Given the description of an element on the screen output the (x, y) to click on. 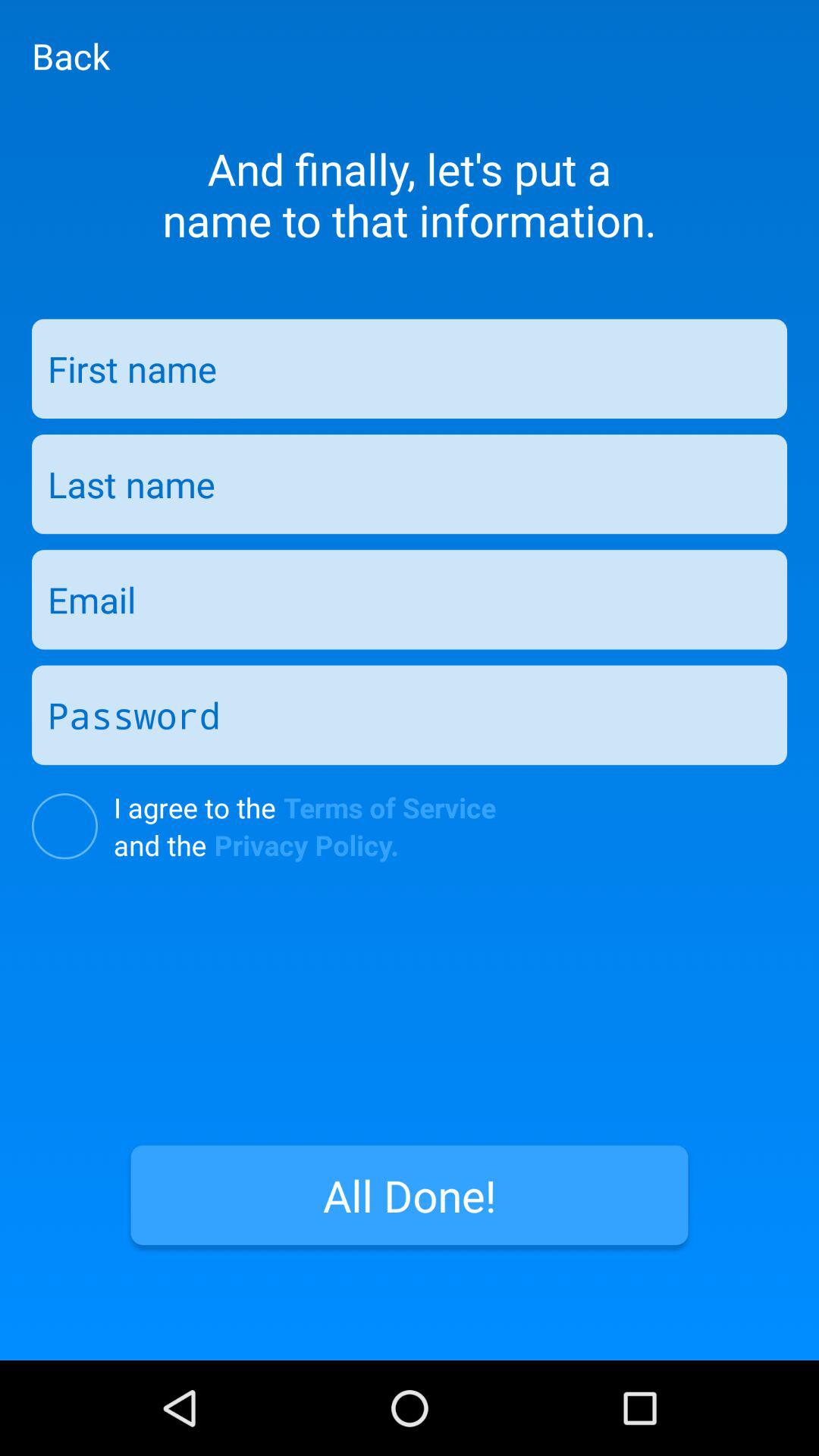
enter first name (409, 368)
